Given the description of an element on the screen output the (x, y) to click on. 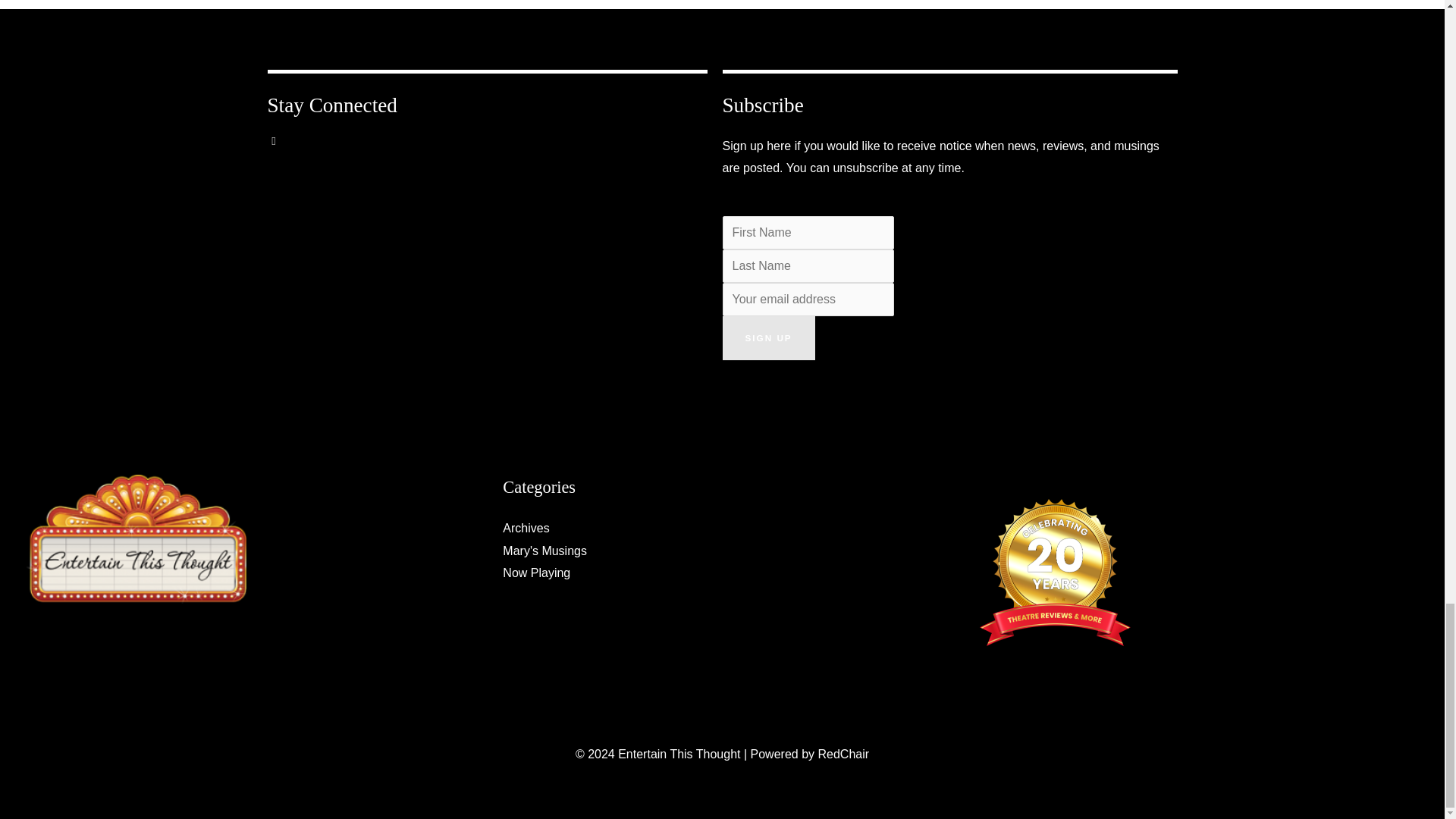
Sign up (767, 338)
RedChair (842, 753)
Facebook-f (283, 151)
Mary's Musings (544, 550)
Now Playing (536, 572)
Sign up (767, 338)
Archives (525, 527)
